Given the description of an element on the screen output the (x, y) to click on. 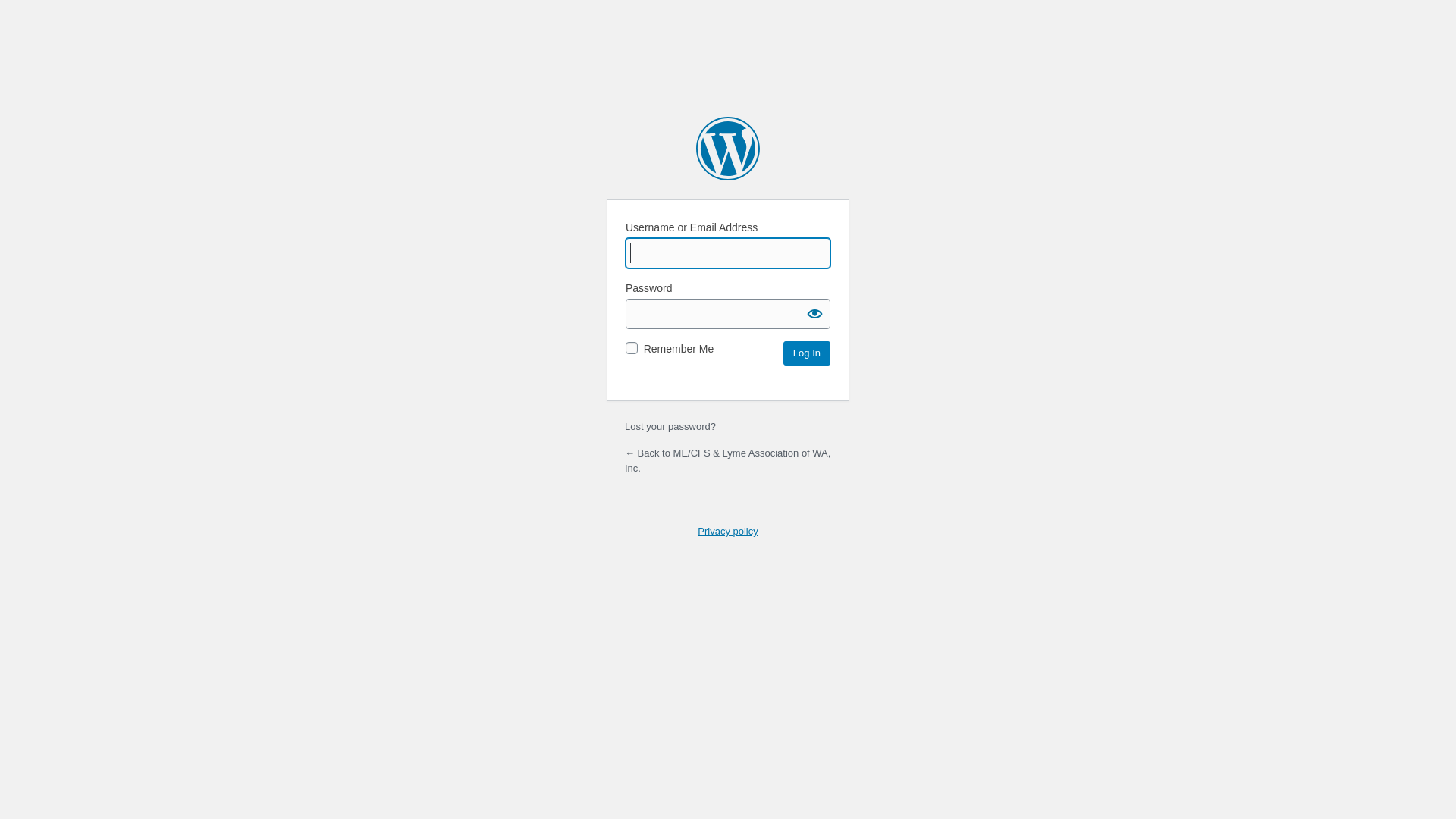
Powered by WordPress Element type: text (727, 148)
Lost your password? Element type: text (669, 426)
Log In Element type: text (806, 353)
Privacy policy Element type: text (727, 530)
